Given the description of an element on the screen output the (x, y) to click on. 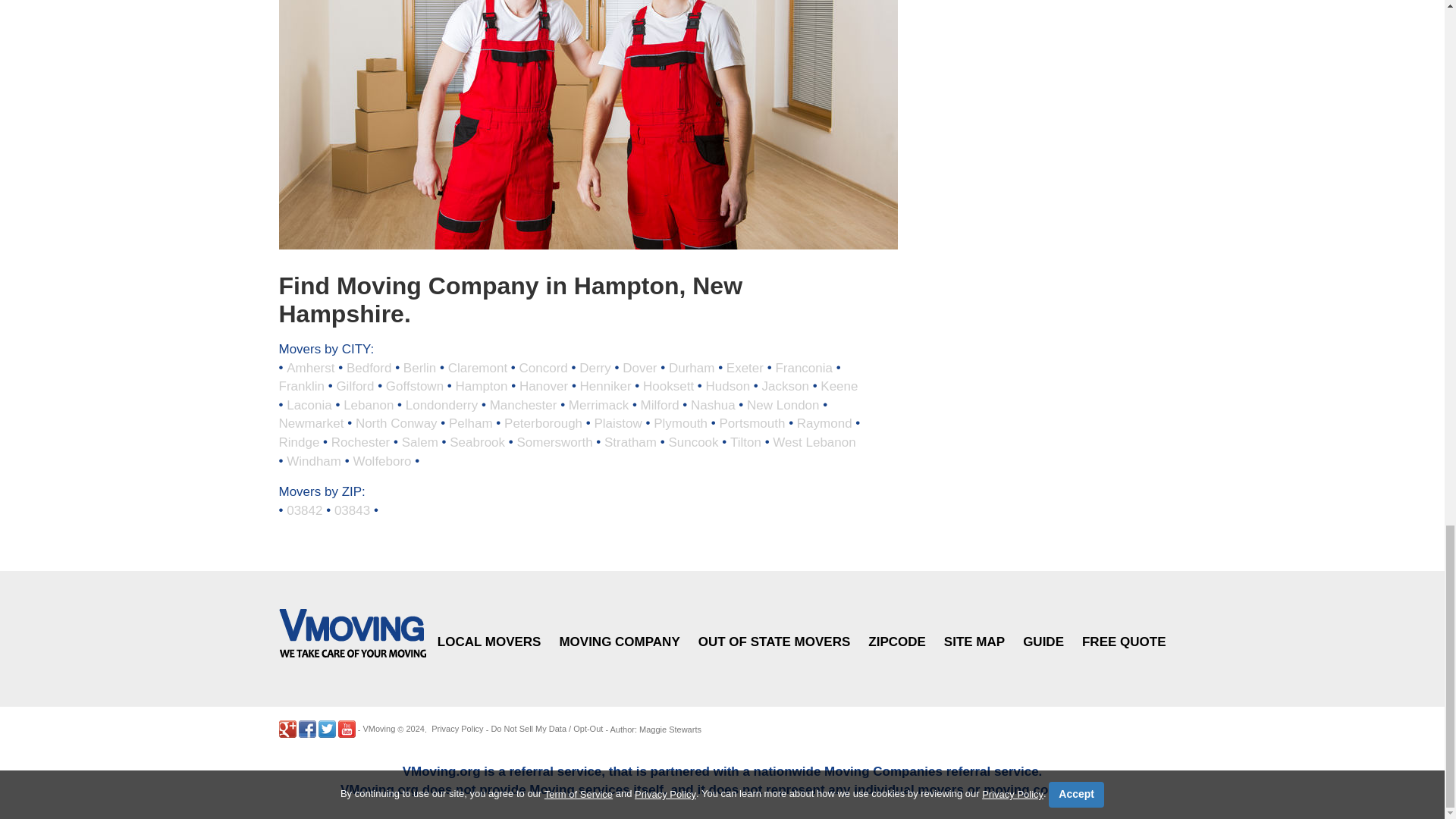
Gilford (355, 386)
Durham (691, 367)
Franconia (803, 367)
V Moving Facebook (306, 728)
Berlin (419, 367)
Dover (639, 367)
Londonderry (441, 404)
Henniker (605, 386)
V Moving Youtube (346, 728)
V Moving Twitter (327, 728)
Lebanon (368, 404)
Exeter (744, 367)
Hooksett (668, 386)
Merrimack (598, 404)
Hudson (728, 386)
